Given the description of an element on the screen output the (x, y) to click on. 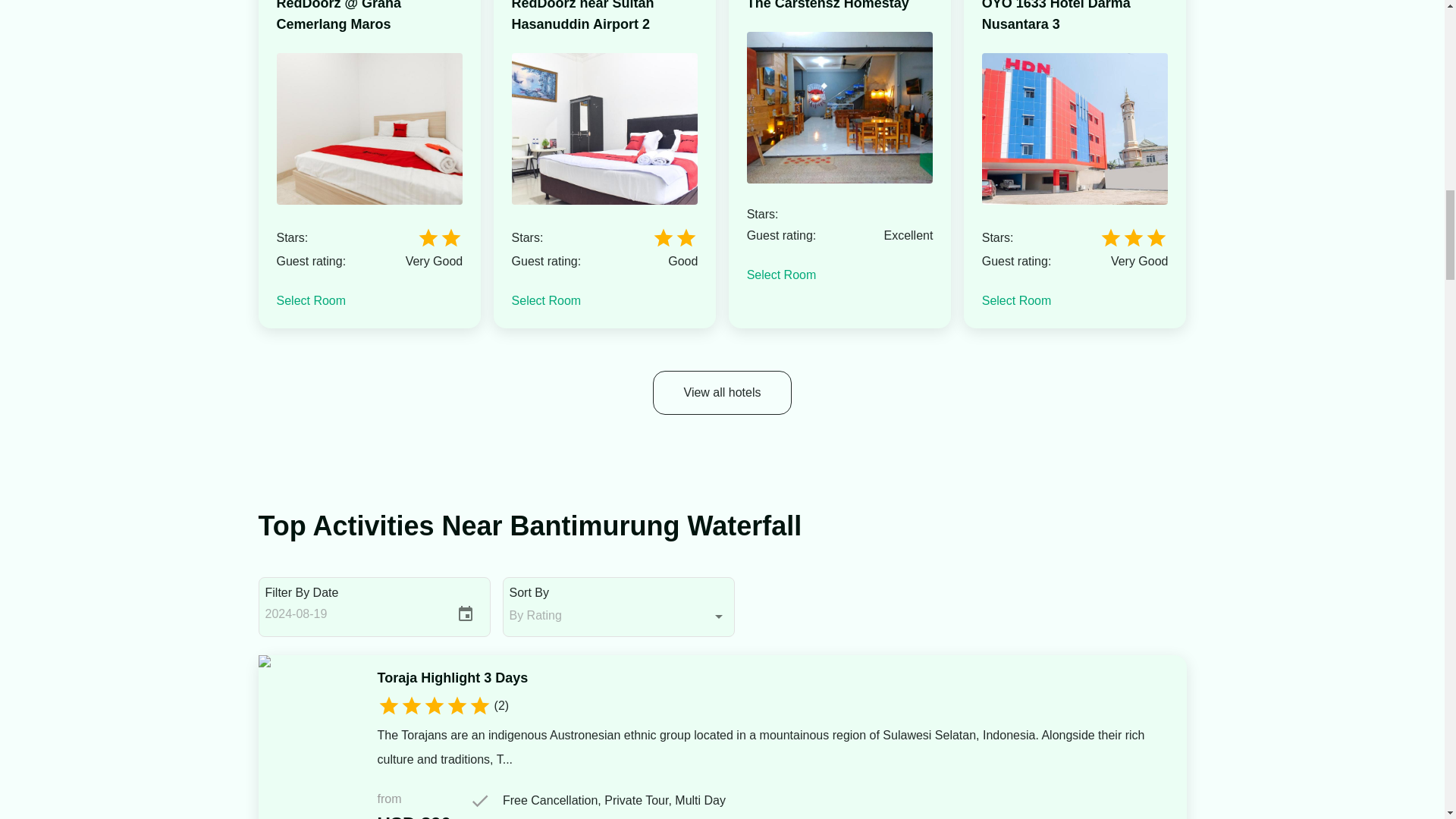
View all hotels (722, 392)
Select Room (1016, 300)
Select Room (546, 300)
2024-08-19 (352, 613)
The Carstensz Homestay (827, 6)
OYO 1633 Hotel Darma Nusantara 3 (1075, 17)
Toraja Highlight 3 Days (452, 677)
RedDoorz near Sultan Hasanuddin Airport 2 (605, 17)
Select Room (311, 300)
Select Room (781, 274)
